Given the description of an element on the screen output the (x, y) to click on. 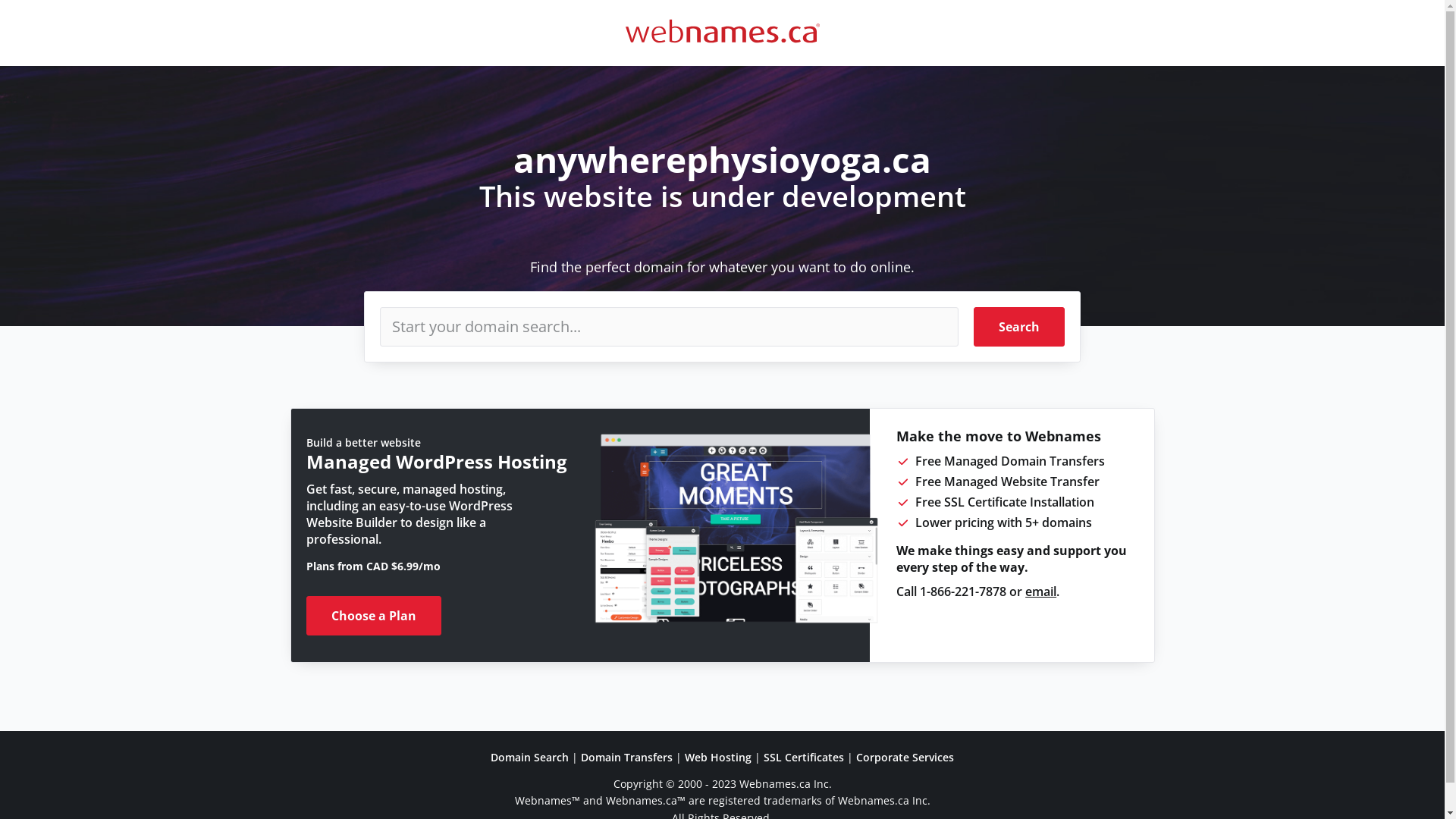
Domain Search Element type: text (529, 756)
email Element type: text (1040, 591)
Corporate Services Element type: text (904, 756)
SSL Certificates Element type: text (803, 756)
Web Hosting Element type: text (717, 756)
Domain Transfers Element type: text (626, 756)
Choose a Plan Element type: text (373, 615)
1-866-221-7878 Element type: text (962, 591)
Search Element type: text (1018, 326)
